Given the description of an element on the screen output the (x, y) to click on. 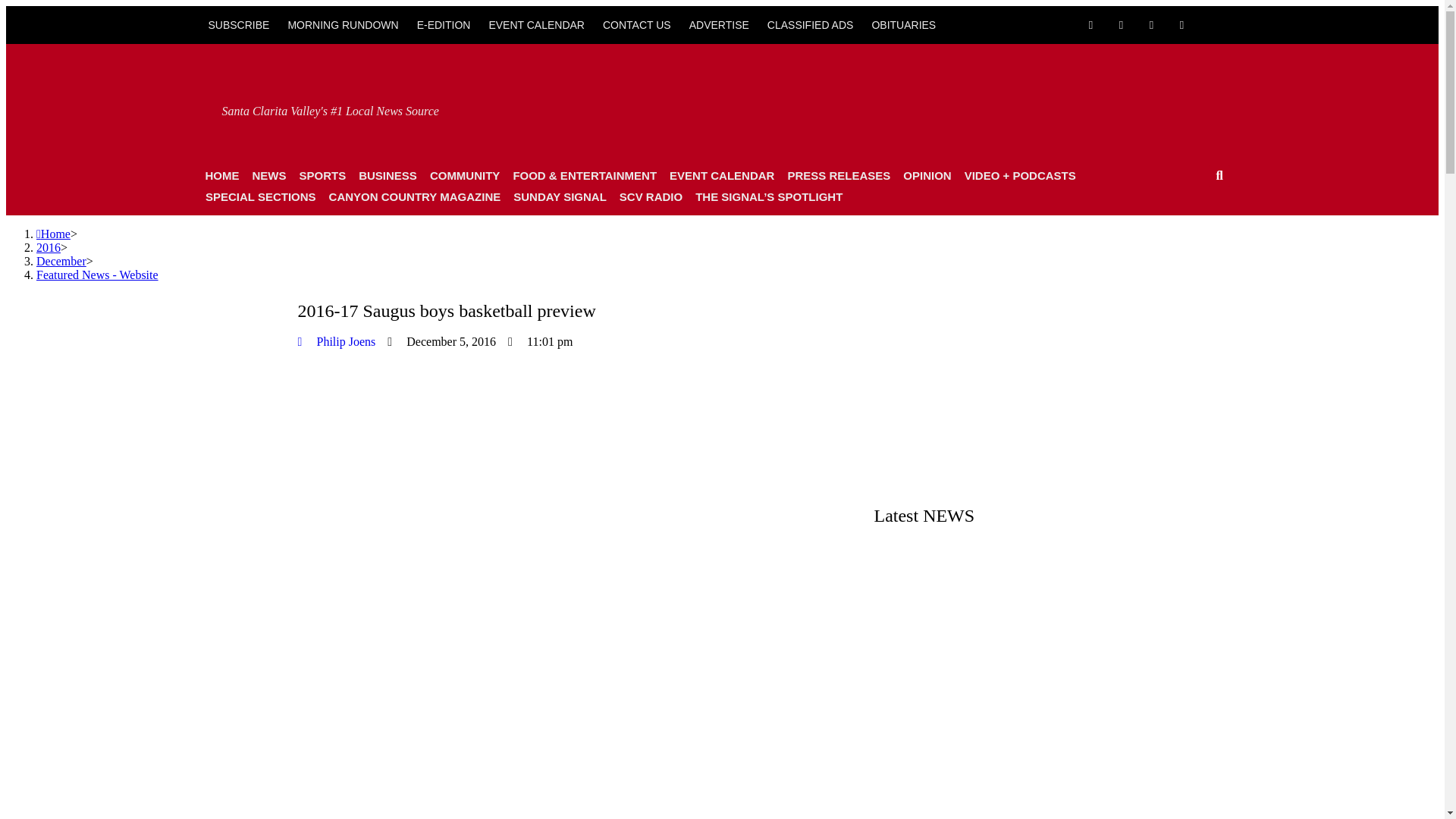
CONTACT US (636, 24)
HOME (221, 175)
SUBSCRIBE (238, 24)
SPORTS (322, 175)
ADVERTISE (718, 24)
OBITUARIES (902, 24)
EVENT CALENDAR (536, 24)
NEWS (269, 175)
MORNING RUNDOWN (342, 24)
E-EDITION (443, 24)
